Given the description of an element on the screen output the (x, y) to click on. 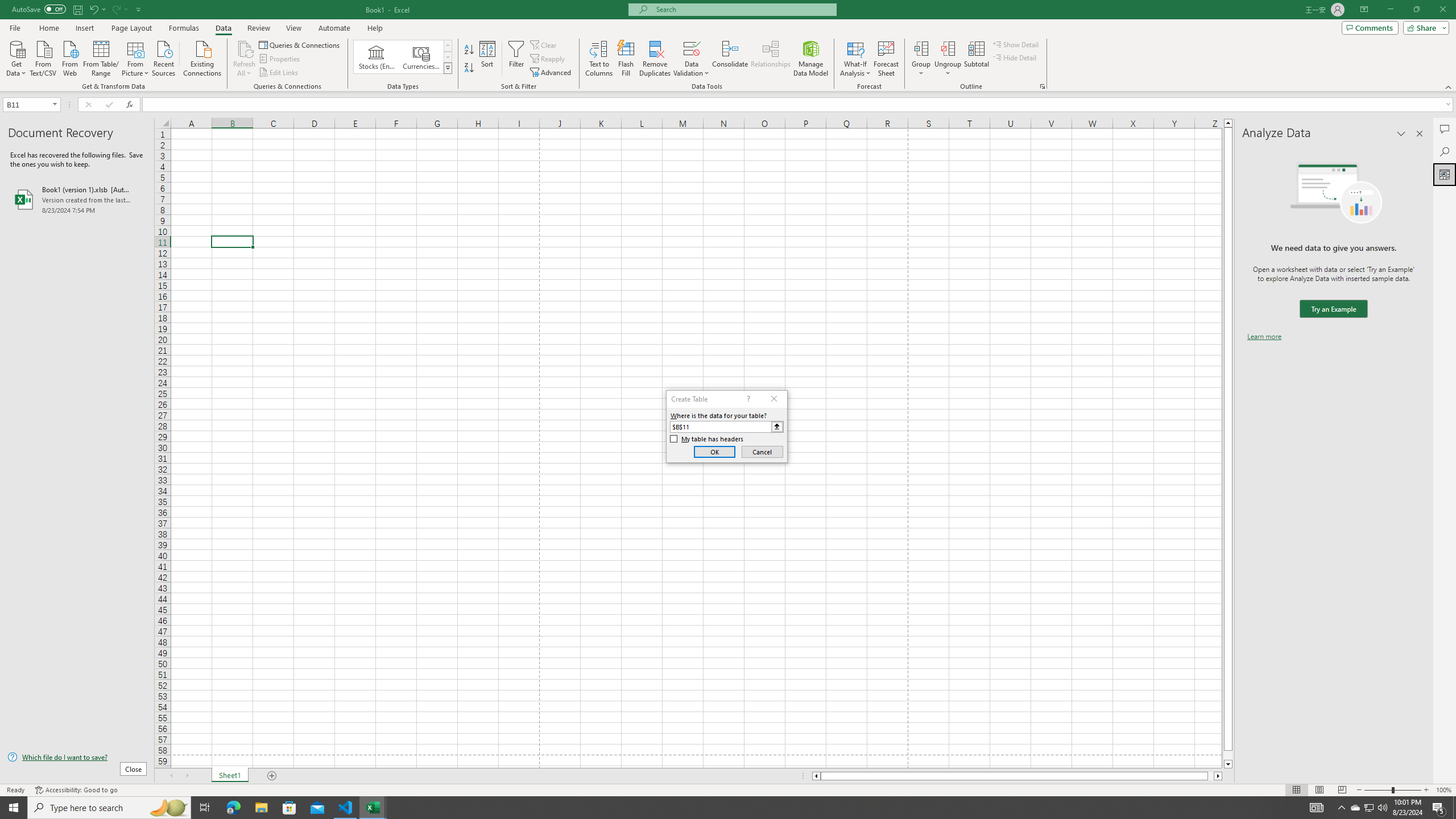
We need data to give you answers. Try an Example (1333, 308)
Row Down (448, 56)
From Web (69, 57)
Sort... (487, 58)
AutomationID: ConvertToLinkedEntity (403, 56)
Remove Duplicates (654, 58)
Advanced... (551, 72)
